Given the description of an element on the screen output the (x, y) to click on. 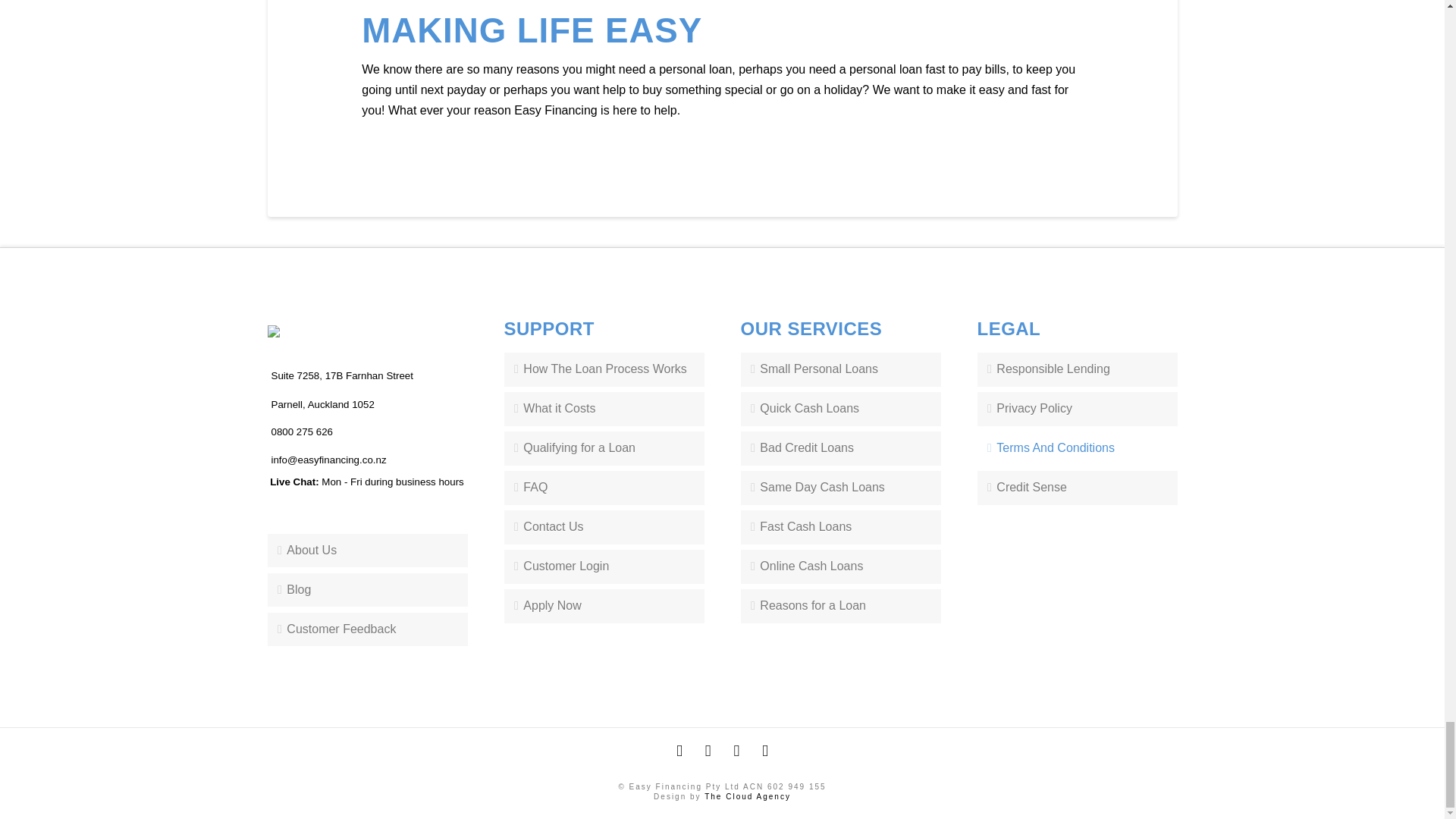
Customer Feedback (366, 629)
Bad Credit Loans (839, 448)
Reasons for a Loan (839, 605)
Online Cash Loans (839, 566)
Contact Us (603, 527)
What it Costs (603, 408)
How The Loan Process Works (603, 369)
Responsible Lending (1076, 369)
Privacy Policy (1076, 408)
Apply Now (603, 605)
